Given the description of an element on the screen output the (x, y) to click on. 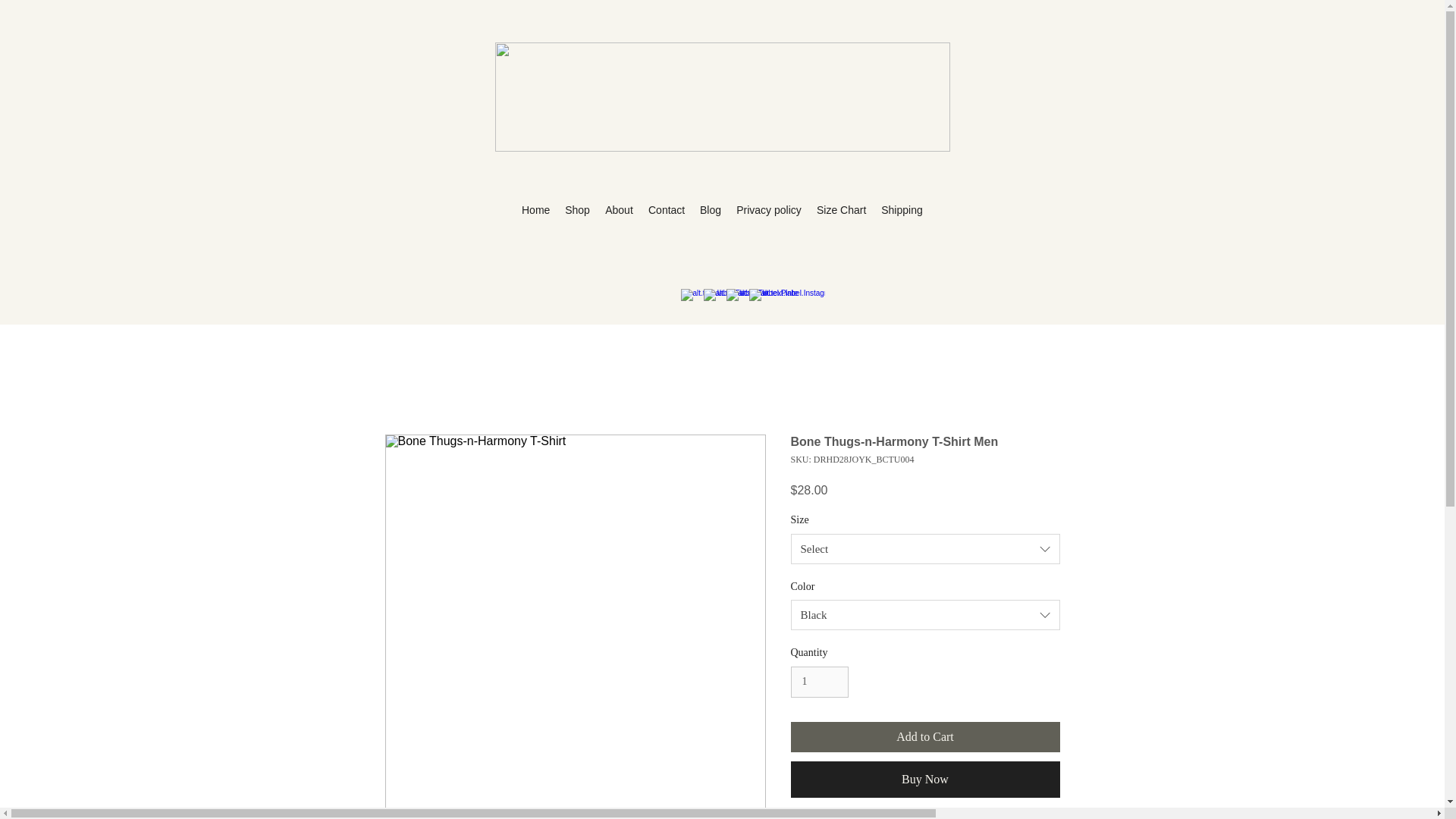
Black (924, 614)
Privacy policy (769, 210)
Size Chart (841, 210)
Contact (666, 210)
Buy Now (924, 779)
Shipping (901, 210)
1 (818, 681)
Select (924, 548)
altosaxo LOGO PNG 1900.png (722, 96)
Add to Cart (924, 736)
